Given the description of an element on the screen output the (x, y) to click on. 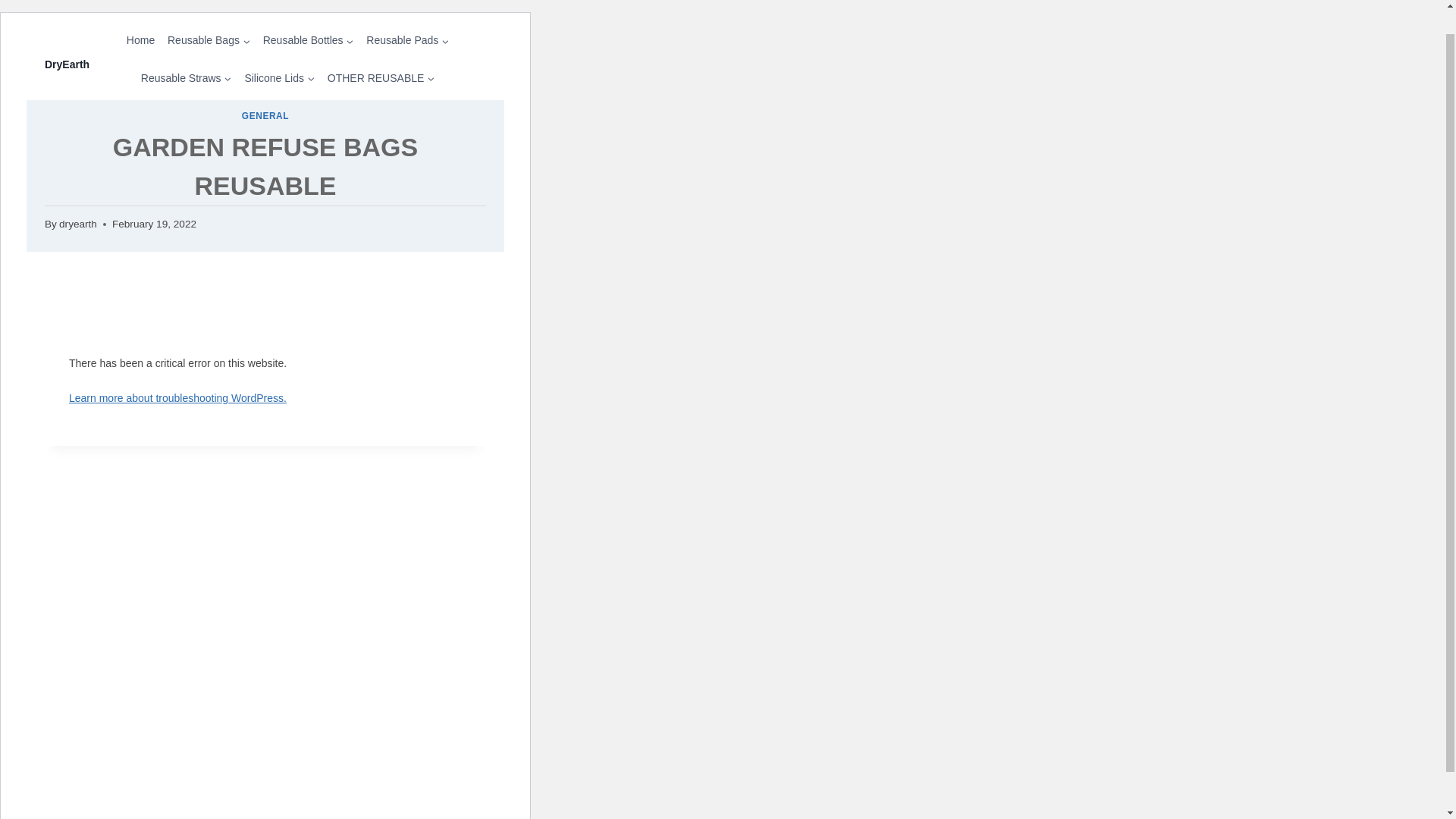
Reusable Bottles (307, 40)
Reusable Straws (185, 77)
Reusable Pads (407, 40)
Silicone Lids (279, 77)
DryEarth (66, 62)
Home (139, 40)
GENERAL (264, 115)
OTHER REUSABLE (380, 77)
